Given the description of an element on the screen output the (x, y) to click on. 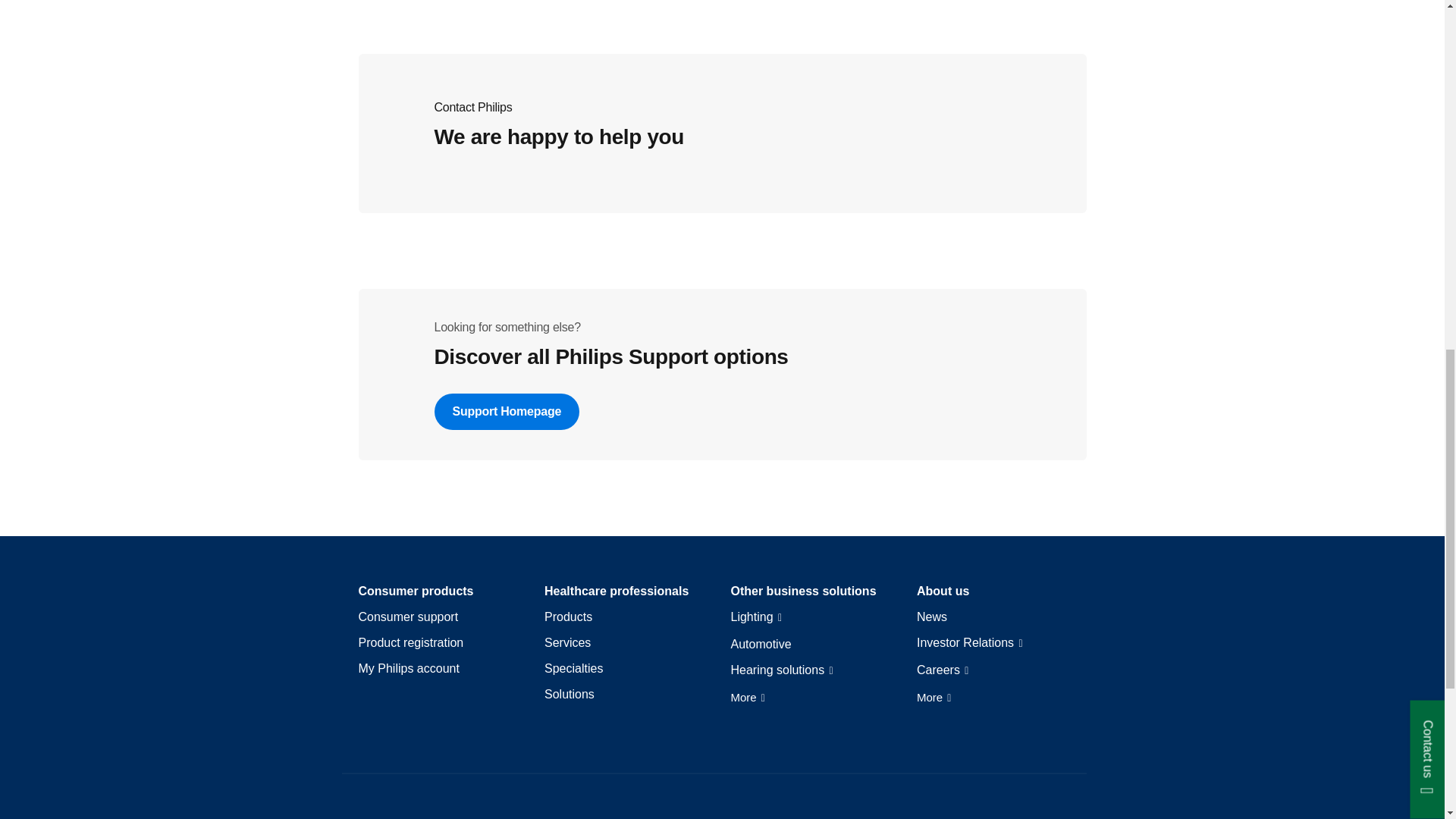
Consumer support  (408, 617)
Products (568, 617)
News (932, 617)
Healthcare professionals (616, 591)
Consumer products (415, 591)
Solutions (569, 694)
Services (567, 642)
Specialties (573, 668)
Automotive (761, 644)
My Philips account (408, 668)
